Given the description of an element on the screen output the (x, y) to click on. 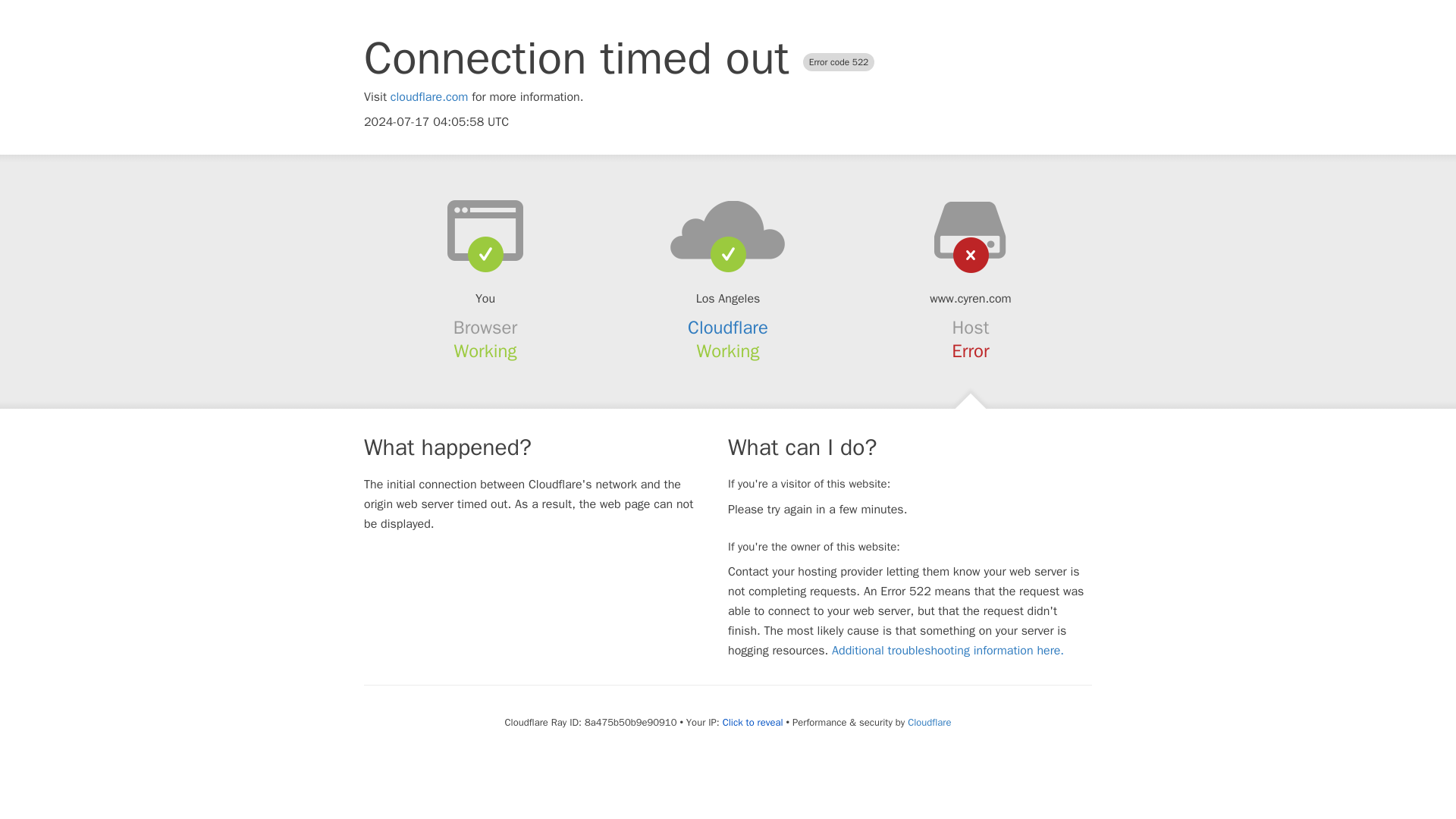
cloudflare.com (429, 96)
Cloudflare (727, 327)
Additional troubleshooting information here. (947, 650)
Cloudflare (928, 721)
Click to reveal (752, 722)
